Given the description of an element on the screen output the (x, y) to click on. 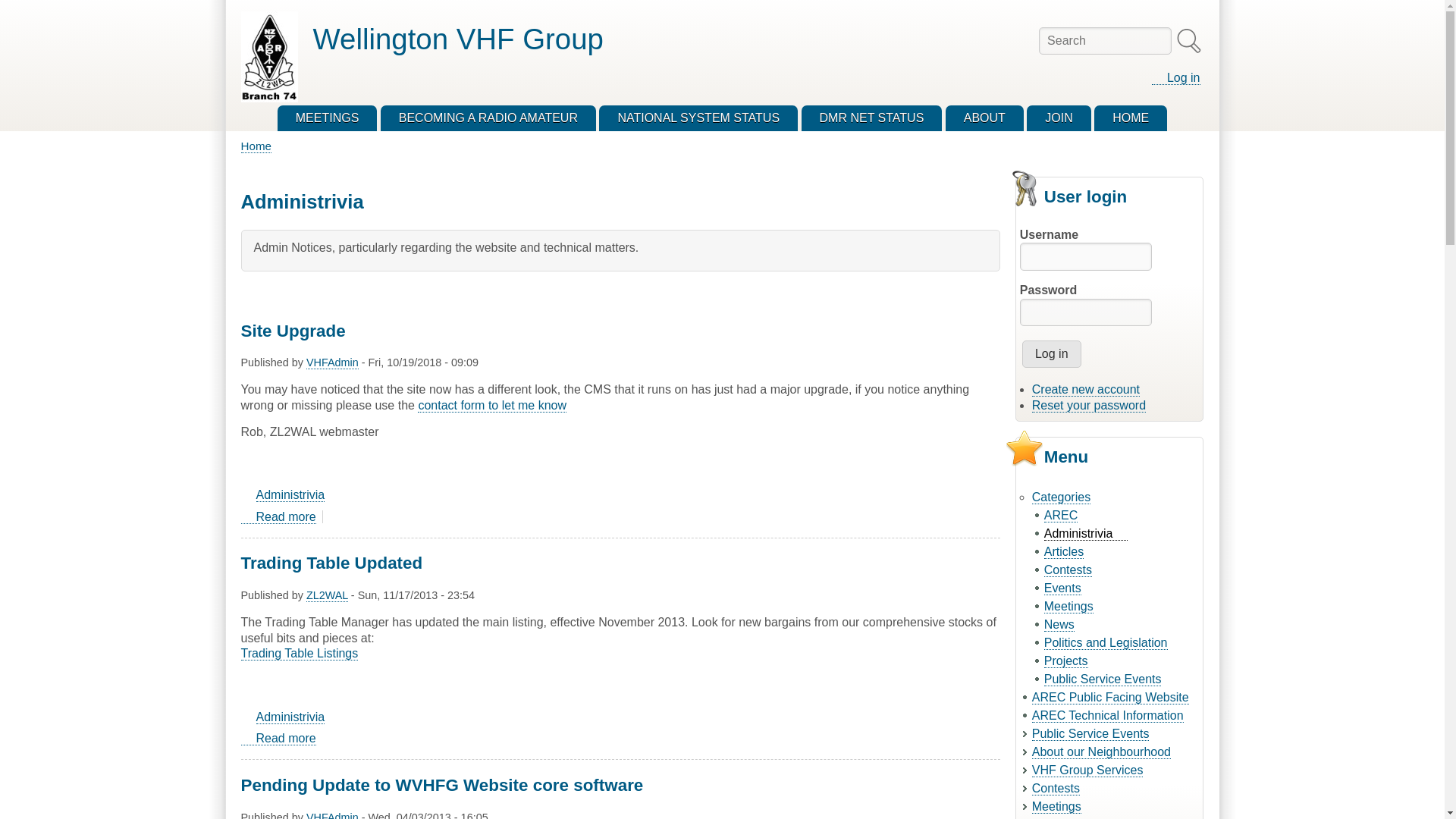
Wellington VHF Group (457, 38)
Status of the Global DMR Network (872, 118)
ZL2WAL (326, 594)
Joining the Wellington VHF Group (1058, 118)
Administrivia (290, 716)
View user profile. (326, 594)
Meetings Schedule and Locations (327, 118)
Trading Table Updated (278, 738)
HOME (1130, 118)
Home (457, 38)
A little about the Wellington VHF Group (278, 517)
BECOMING A RADIO AMATEUR (983, 118)
contact form to let me know (487, 118)
Enter the terms you wish to search for. (491, 405)
